Given the description of an element on the screen output the (x, y) to click on. 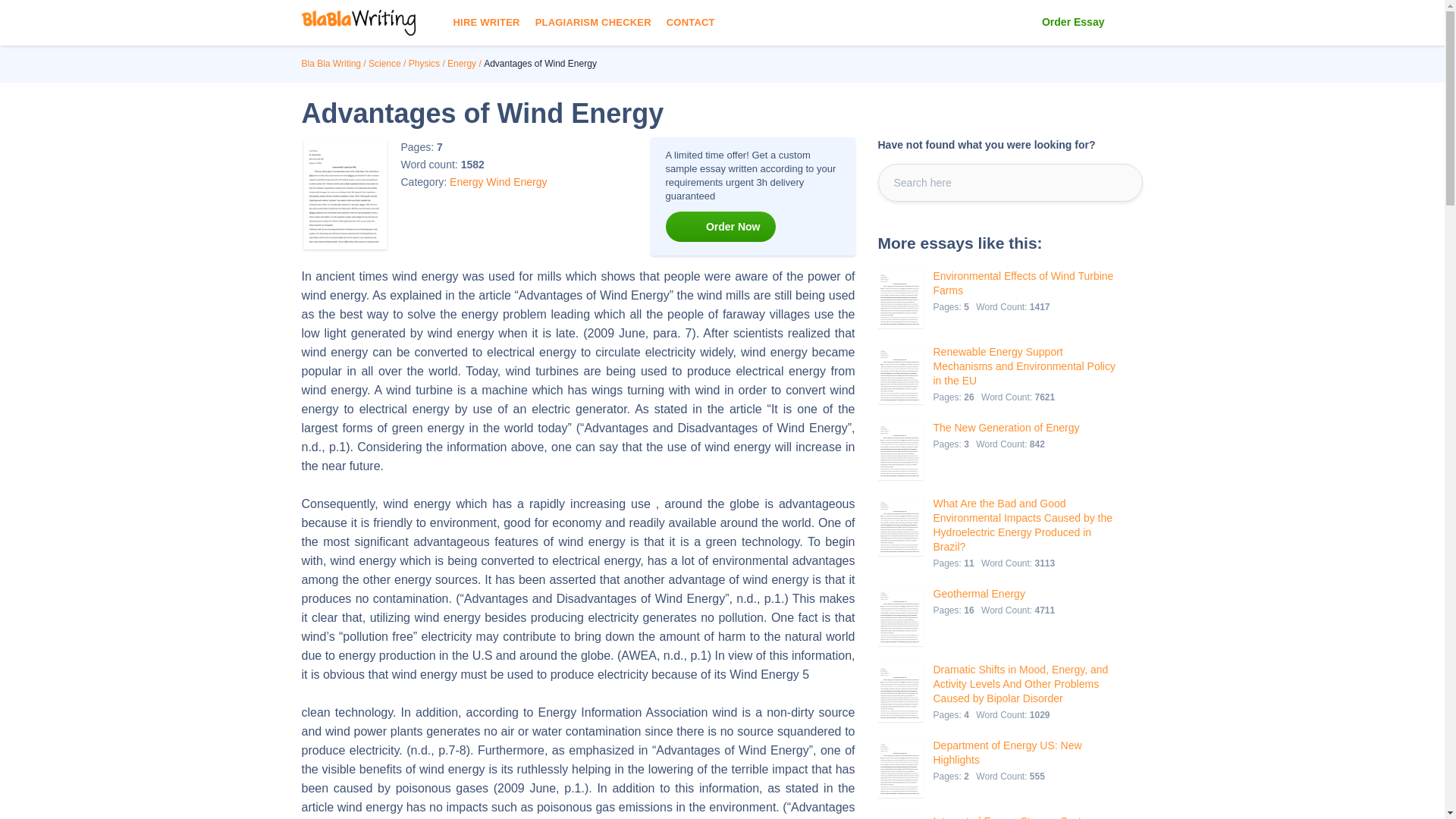
The New Generation of Energy (1005, 427)
Energy. (461, 63)
Science. (384, 63)
Wind Energy (516, 182)
Energy (466, 182)
Physics (424, 63)
Physics. (424, 63)
Bla Bla Writing (331, 63)
